Given the description of an element on the screen output the (x, y) to click on. 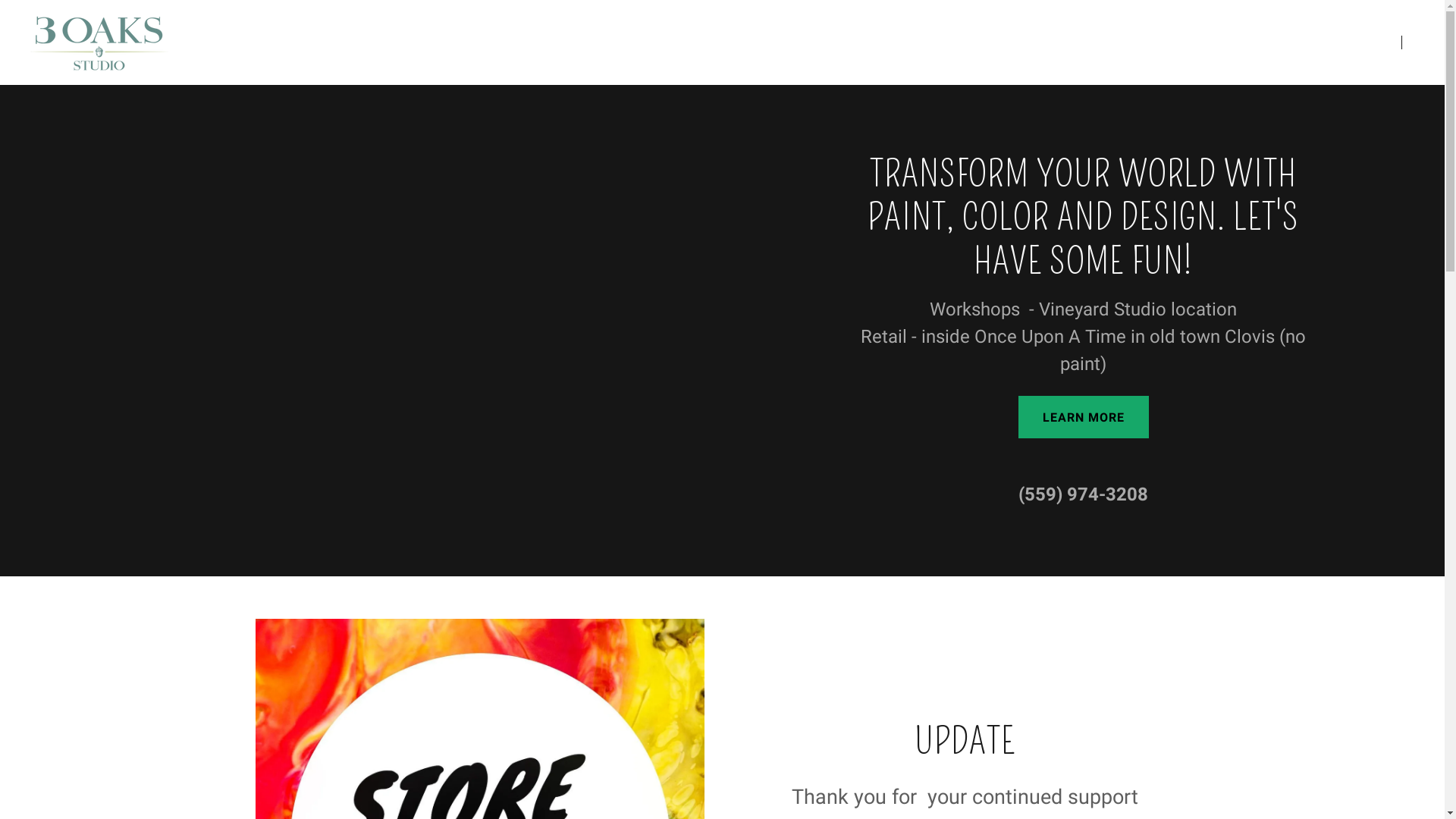
(559) 974-3208 Element type: text (1083, 494)
LEARN MORE Element type: text (1083, 416)
3 Oaks Studio   Element type: hover (99, 41)
